Given the description of an element on the screen output the (x, y) to click on. 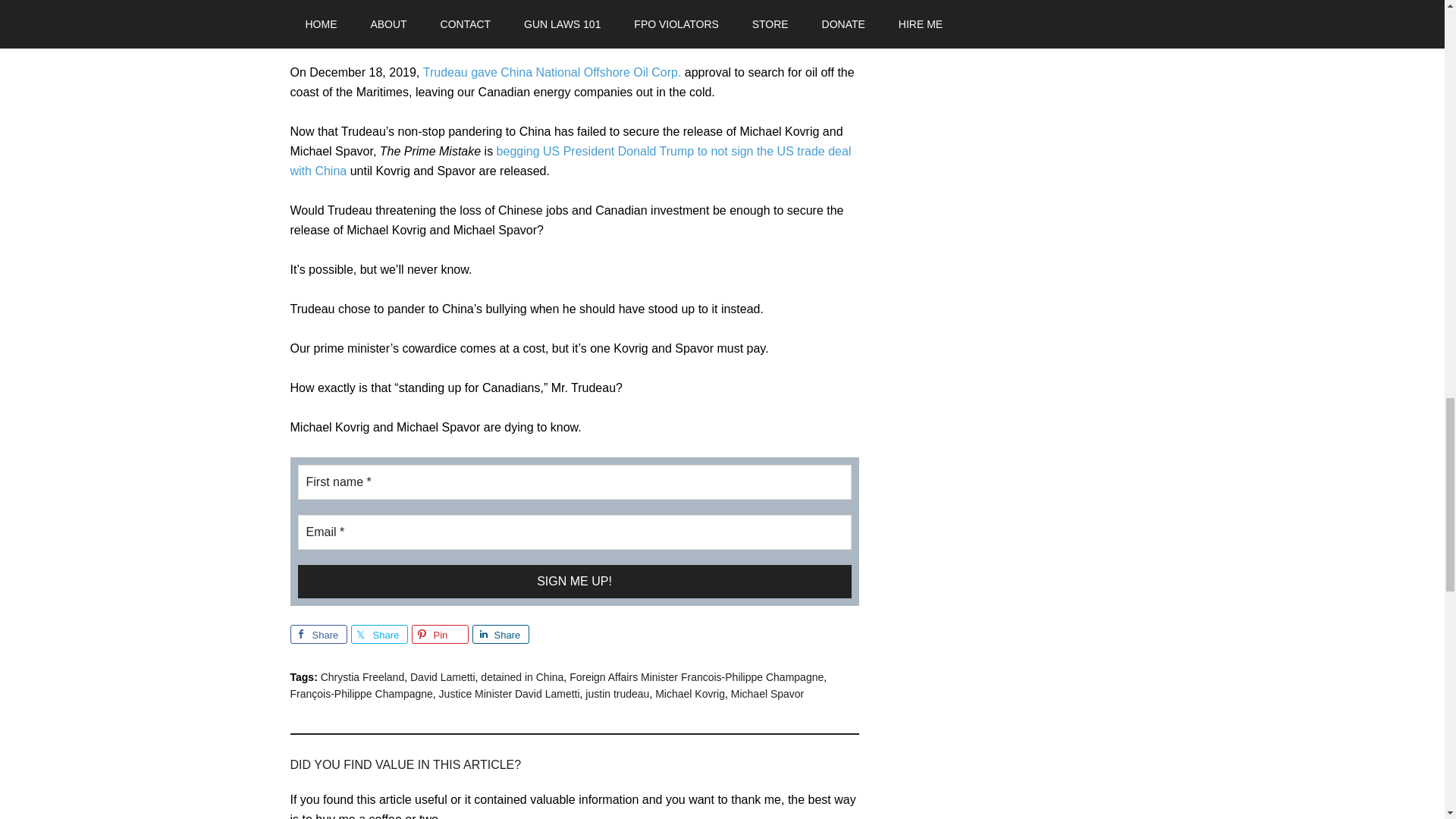
Sign me up! (573, 580)
Email (573, 531)
First name (573, 481)
